Given the description of an element on the screen output the (x, y) to click on. 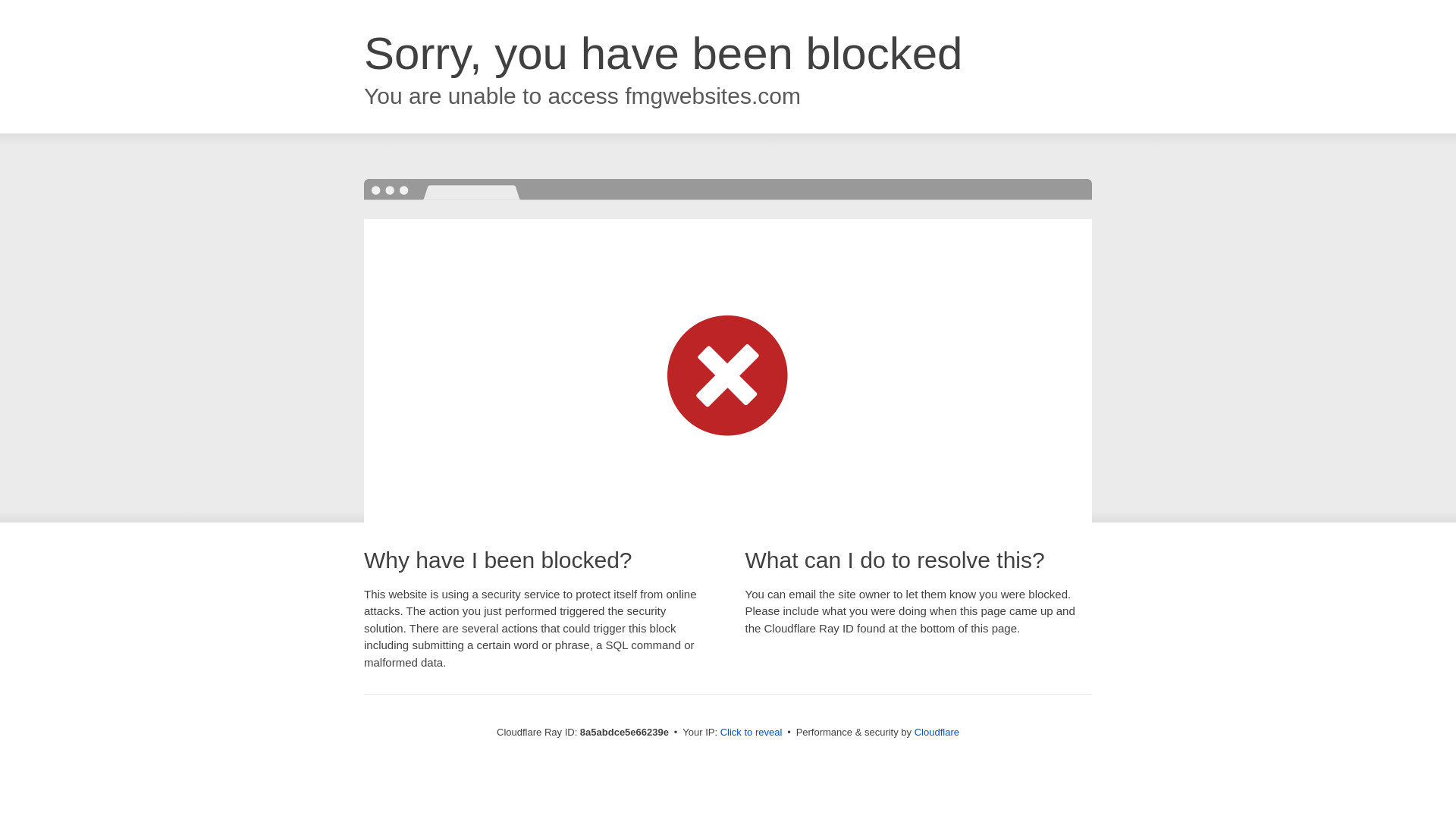
Click to reveal (751, 732)
Cloudflare (936, 731)
